Given the description of an element on the screen output the (x, y) to click on. 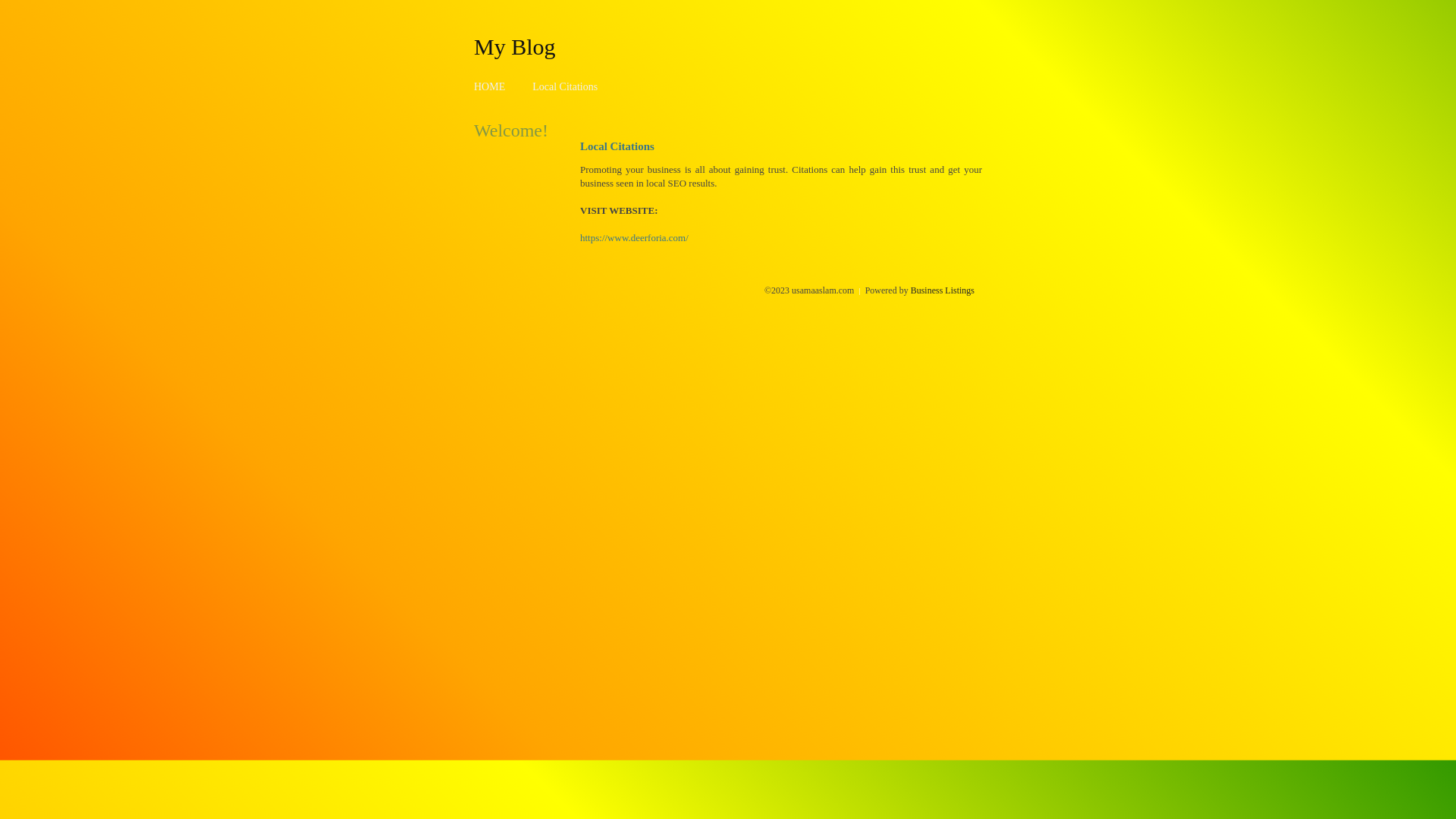
Business Listings Element type: text (942, 290)
https://www.deerforia.com/ Element type: text (634, 237)
HOME Element type: text (489, 86)
Local Citations Element type: text (564, 86)
My Blog Element type: text (514, 46)
